Given the description of an element on the screen output the (x, y) to click on. 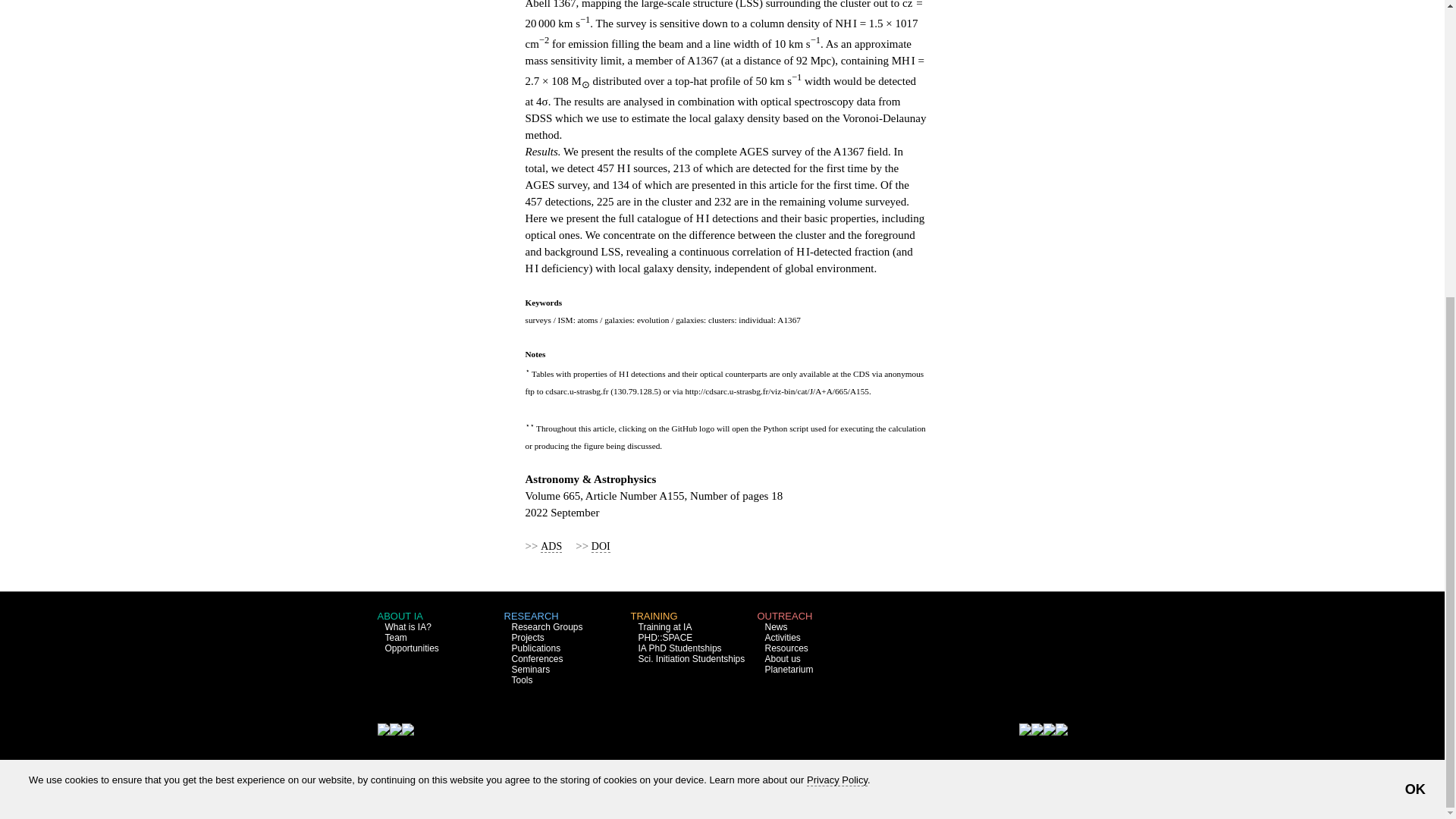
What is IA? (407, 626)
DOI (600, 545)
ADS (551, 545)
Team (396, 637)
